Given the description of an element on the screen output the (x, y) to click on. 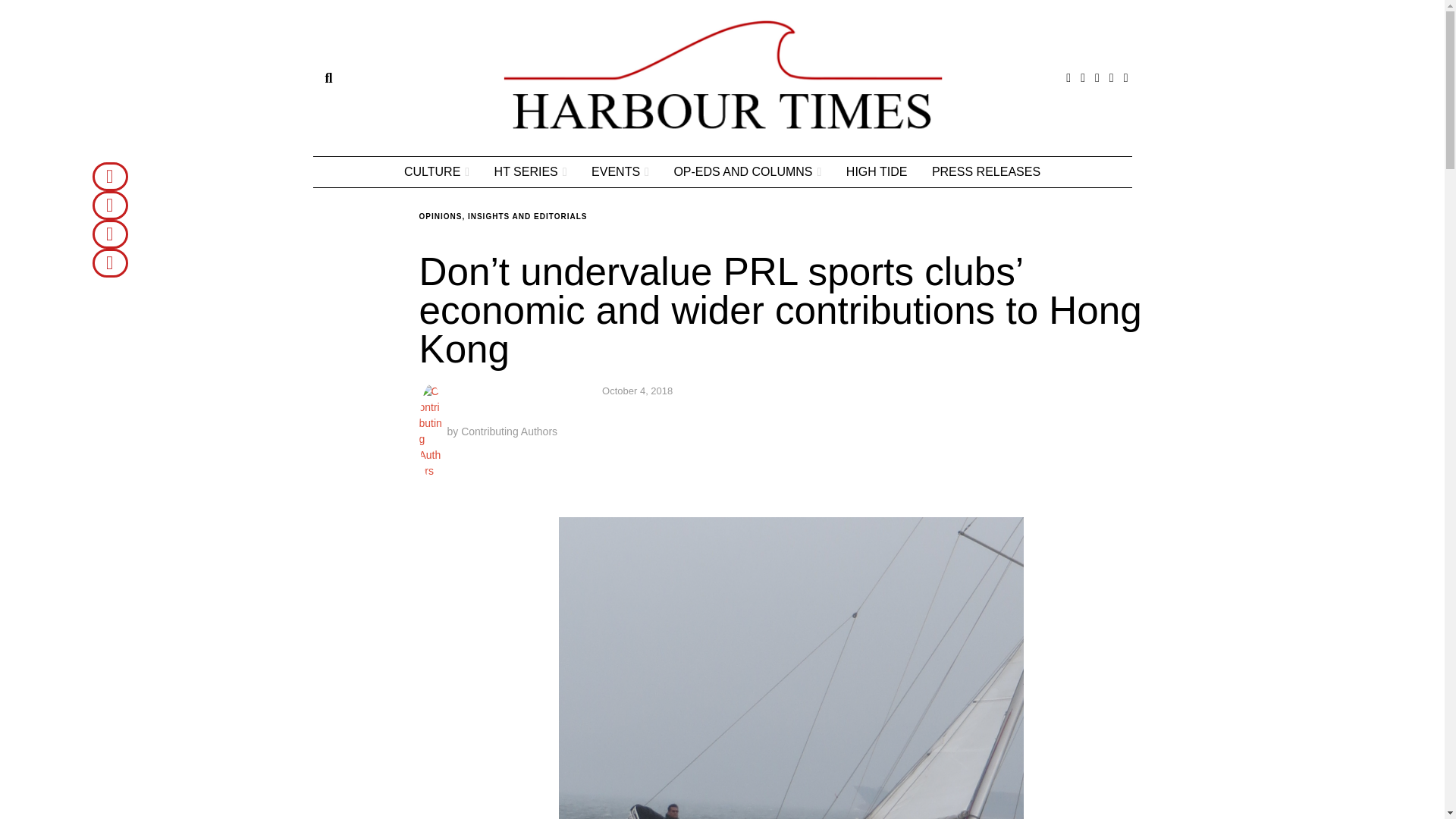
HT SERIES (530, 172)
EVENTS (619, 172)
CULTURE (436, 172)
OP-EDS AND COLUMNS (746, 172)
by Contributing Authors (488, 431)
PRESS RELEASES (986, 172)
OPINIONS, INSIGHTS AND EDITORIALS (502, 216)
HIGH TIDE (876, 172)
